Given the description of an element on the screen output the (x, y) to click on. 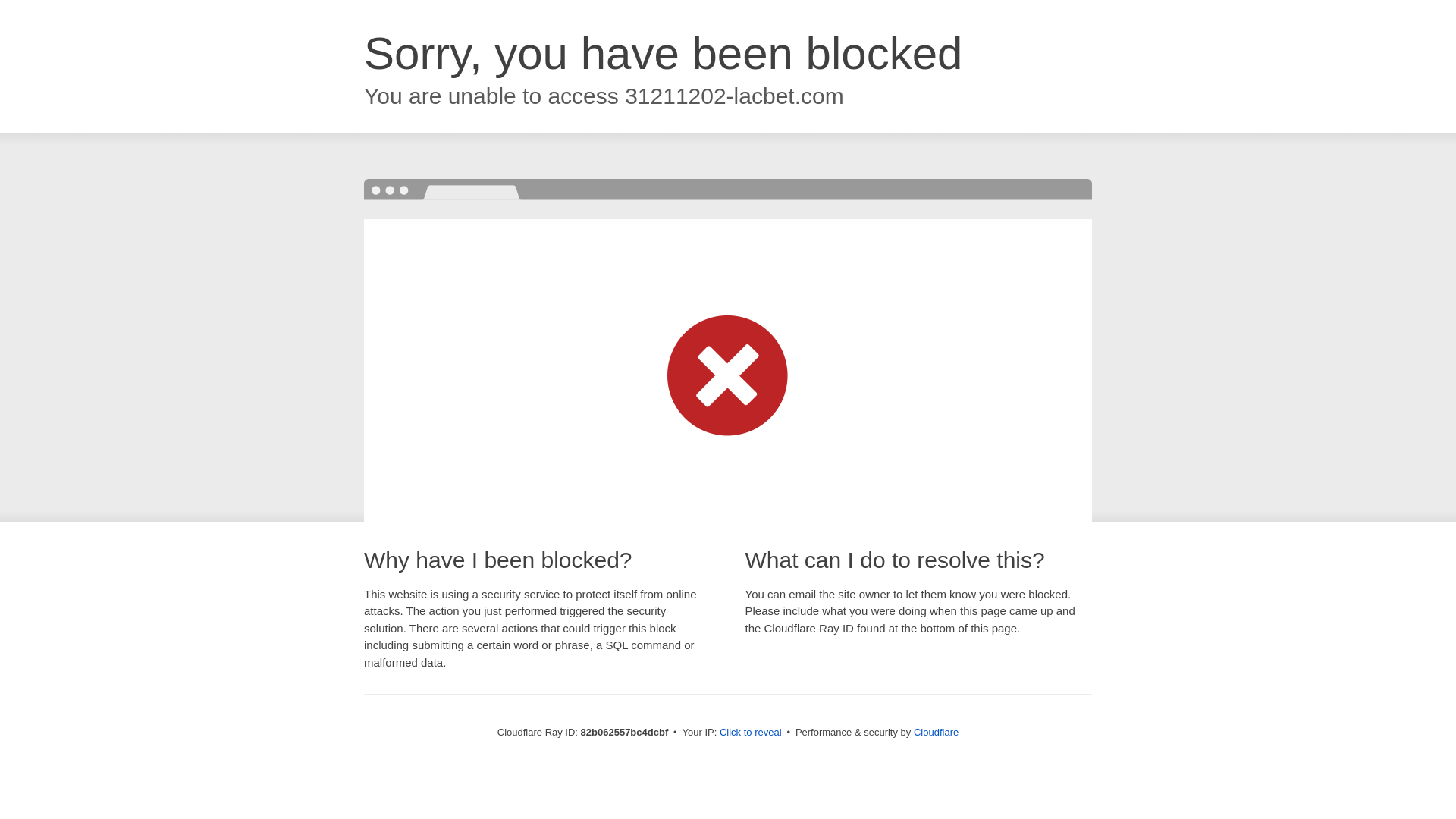
Cloudflare Element type: text (935, 731)
Click to reveal Element type: text (750, 732)
